Given the description of an element on the screen output the (x, y) to click on. 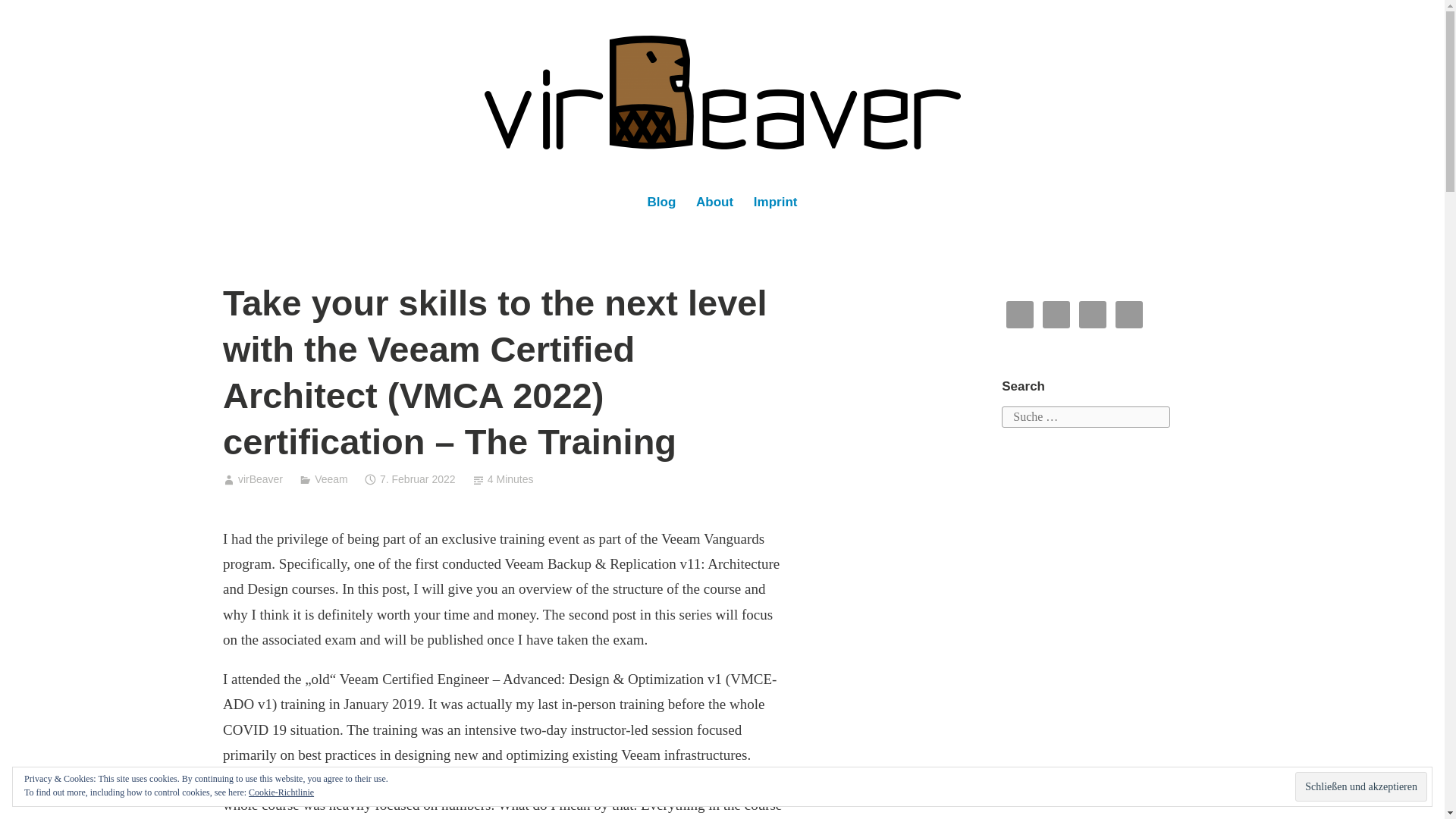
Cookie-Richtlinie (281, 792)
Suche (28, 16)
Blog (661, 202)
Imprint (775, 202)
virBeaver (89, 191)
virBeaver (260, 479)
About (714, 202)
Veeam (330, 479)
